Given the description of an element on the screen output the (x, y) to click on. 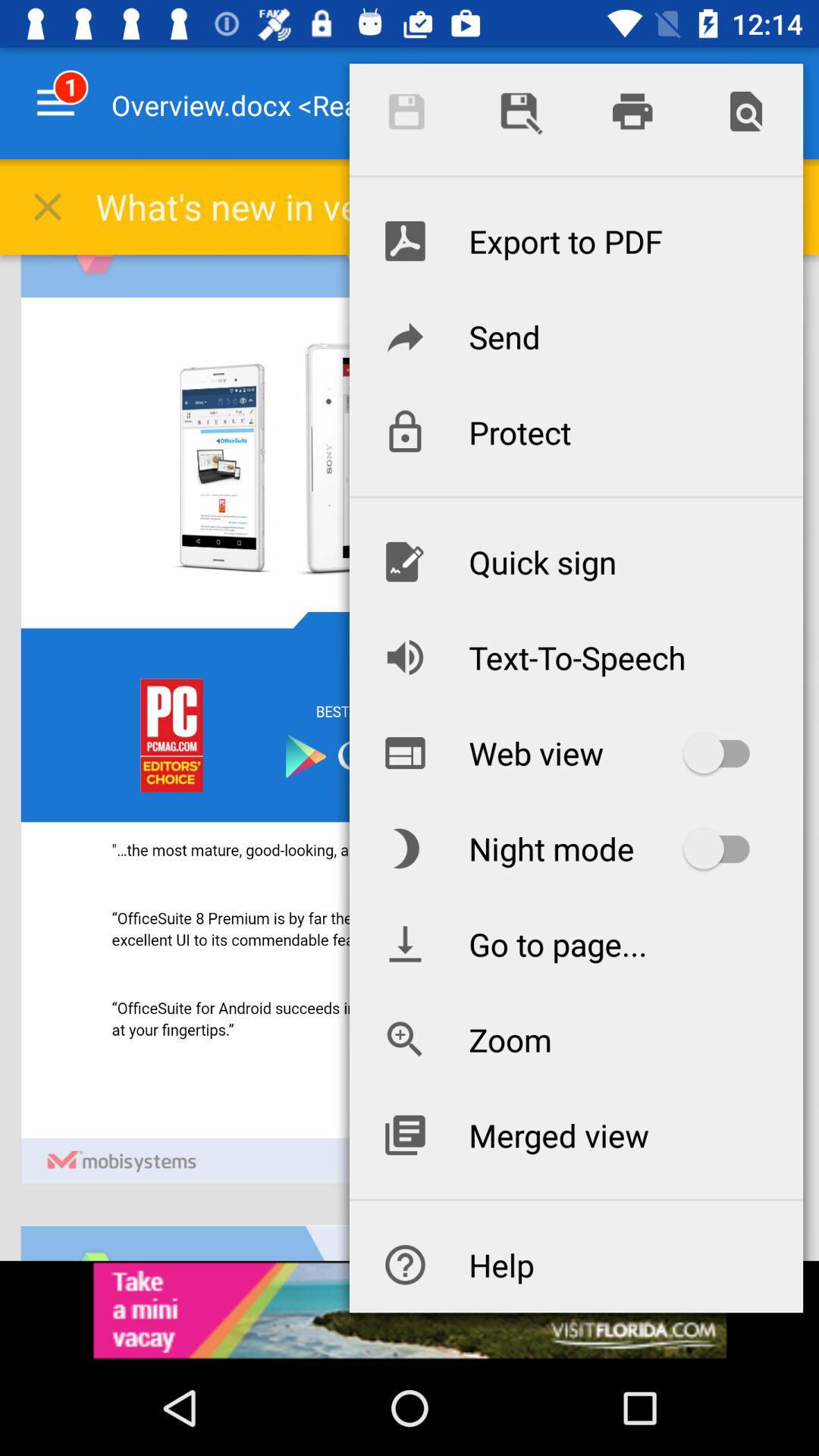
flip to send item (576, 336)
